Given the description of an element on the screen output the (x, y) to click on. 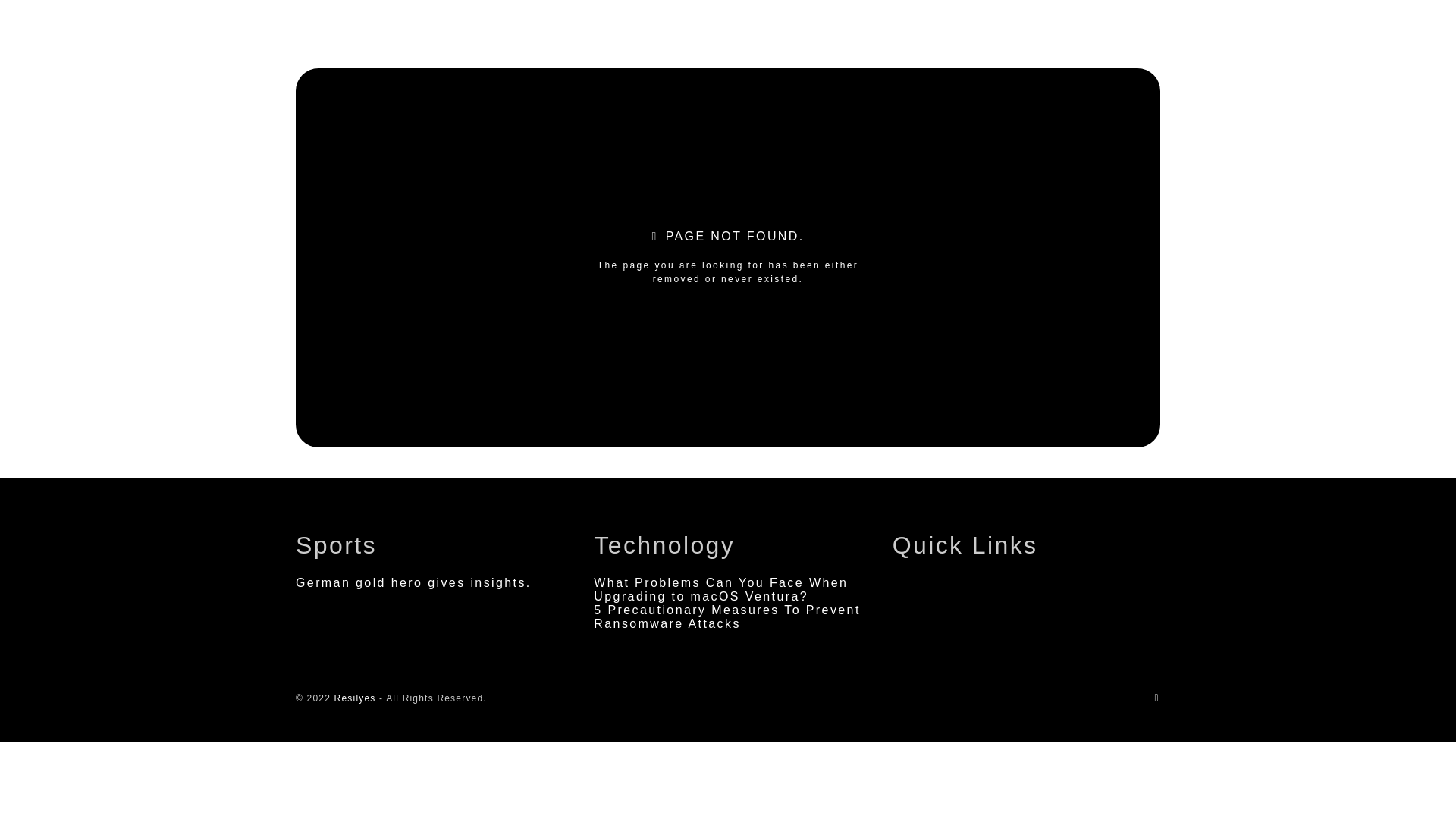
What Problems Can You Face When Upgrading to macOS Ventura? (720, 589)
5 Precautionary Measures To Prevent Ransomware Attacks (727, 616)
German gold hero gives insights. (413, 582)
